Given the description of an element on the screen output the (x, y) to click on. 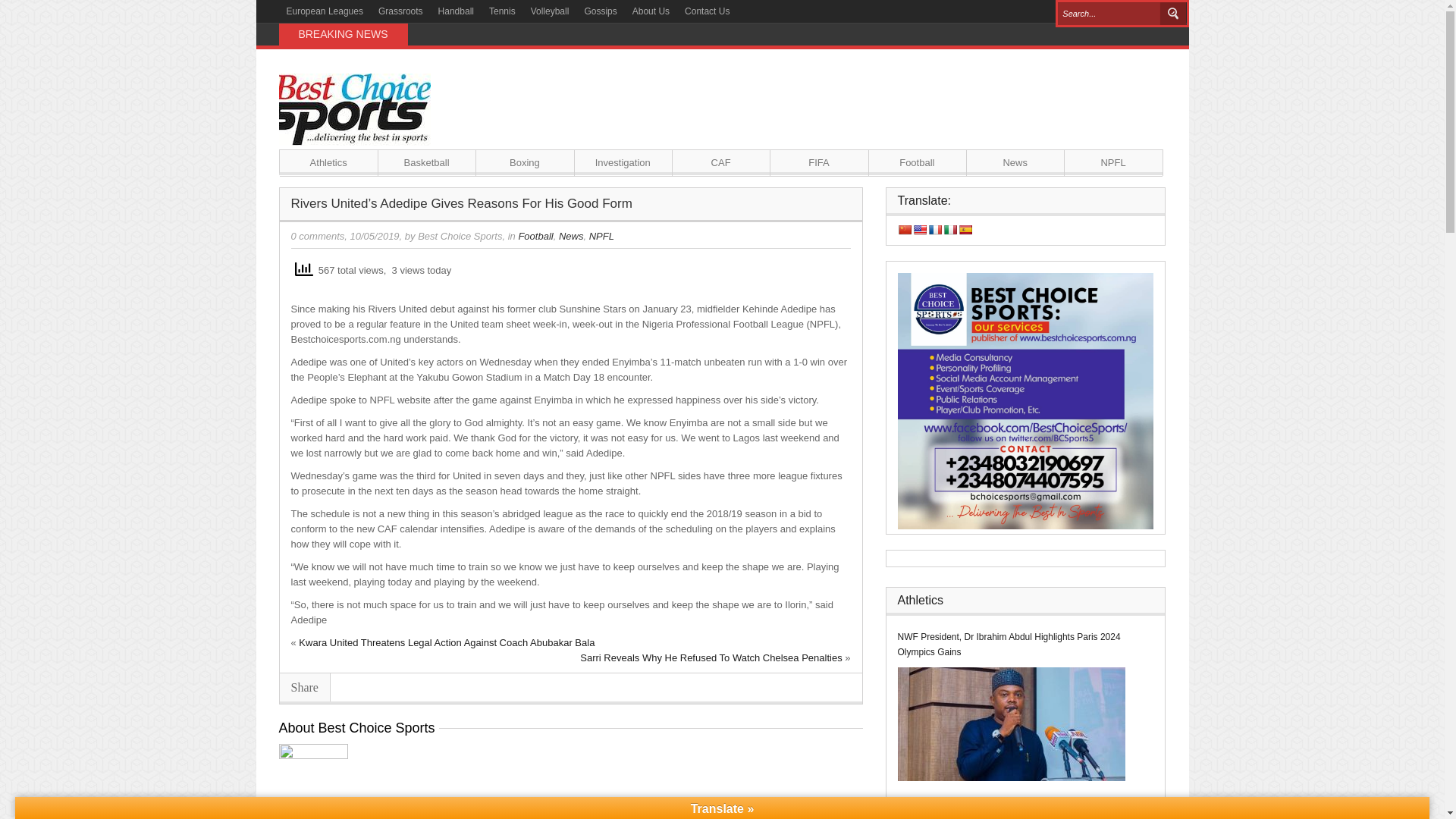
NPFL (1112, 162)
News (571, 235)
Posts by Best Choice Sports (459, 235)
CAF (720, 162)
FIFA (818, 162)
Spanish (965, 229)
0 comments (318, 235)
Investigation (622, 162)
Grassroots (400, 11)
